Given the description of an element on the screen output the (x, y) to click on. 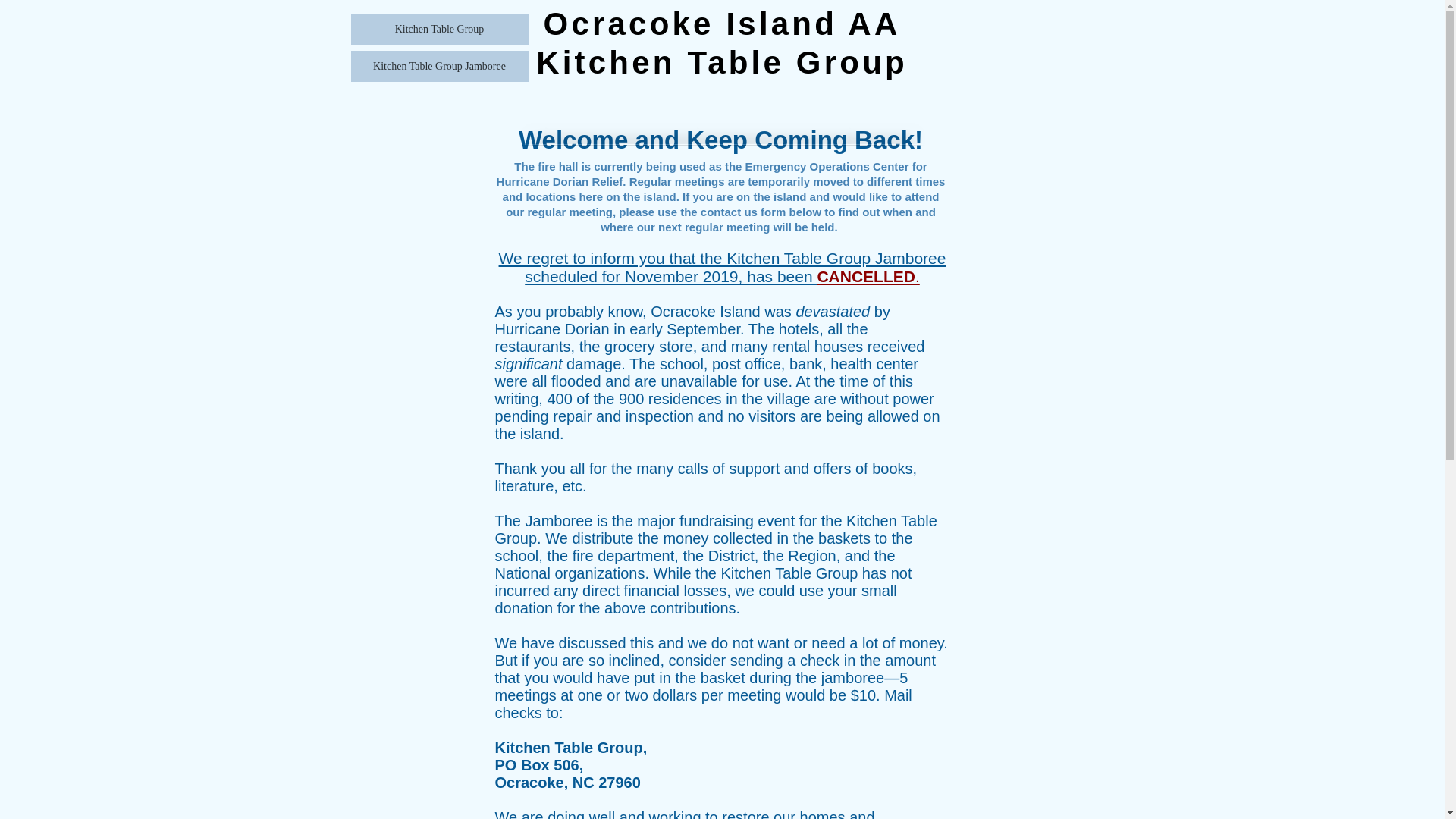
Kitchen Table Group (438, 29)
Kitchen Table Group Jamboree (438, 65)
